Given the description of an element on the screen output the (x, y) to click on. 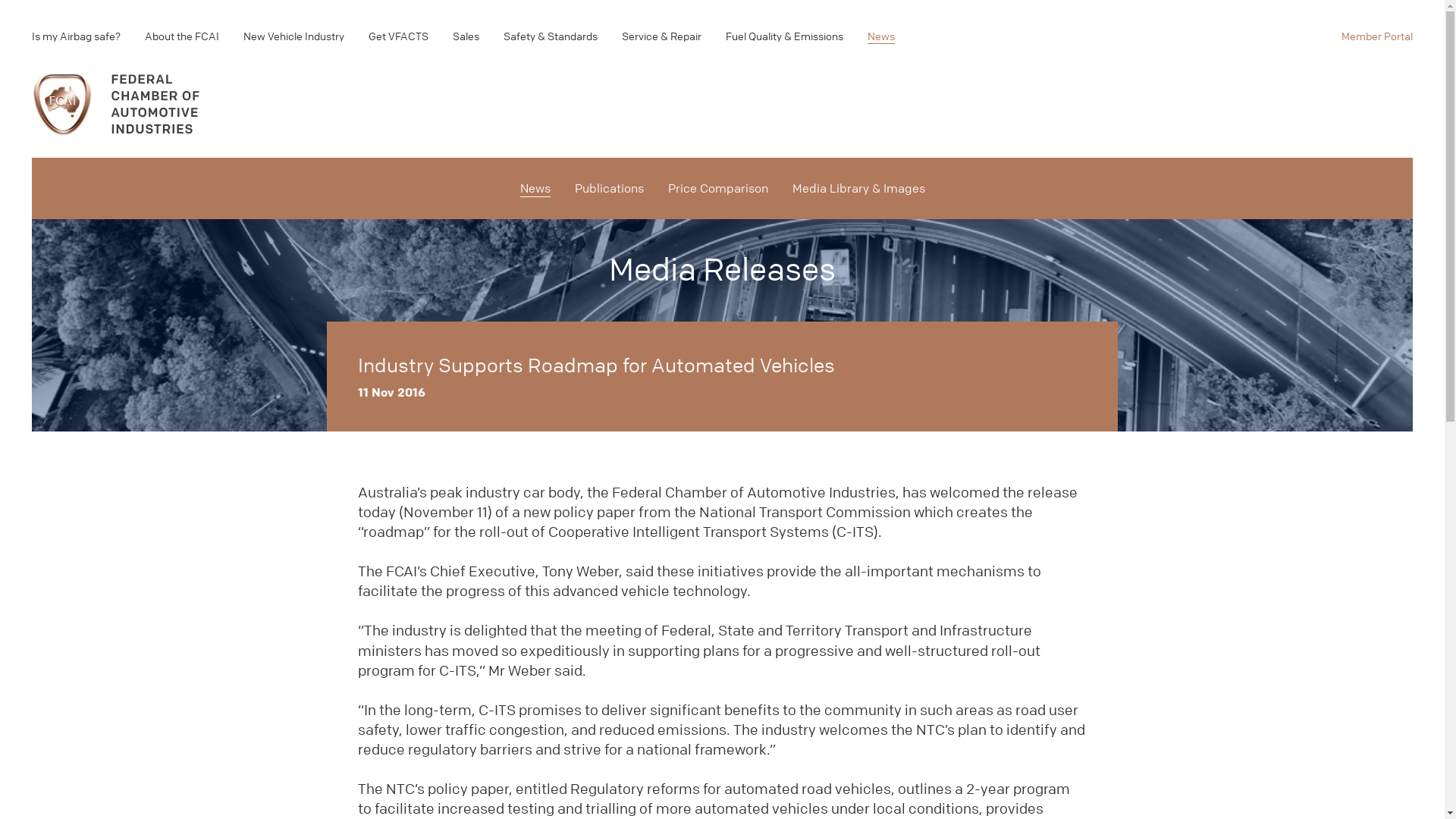
Media Library & Images Element type: text (857, 188)
About the FCAI Element type: text (181, 35)
New Vehicle Industry Element type: text (293, 35)
News Element type: text (535, 188)
Service & Repair Element type: text (661, 35)
Publications Element type: text (608, 188)
Price Comparison Element type: text (717, 188)
Member Portal Element type: text (1376, 35)
News Element type: text (880, 35)
Is my Airbag safe? Element type: text (75, 35)
Safety & Standards Element type: text (550, 35)
1 Element type: text (116, 108)
Fuel Quality & Emissions Element type: text (784, 35)
Sales Element type: text (465, 35)
Get VFACTS Element type: text (398, 35)
